Given the description of an element on the screen output the (x, y) to click on. 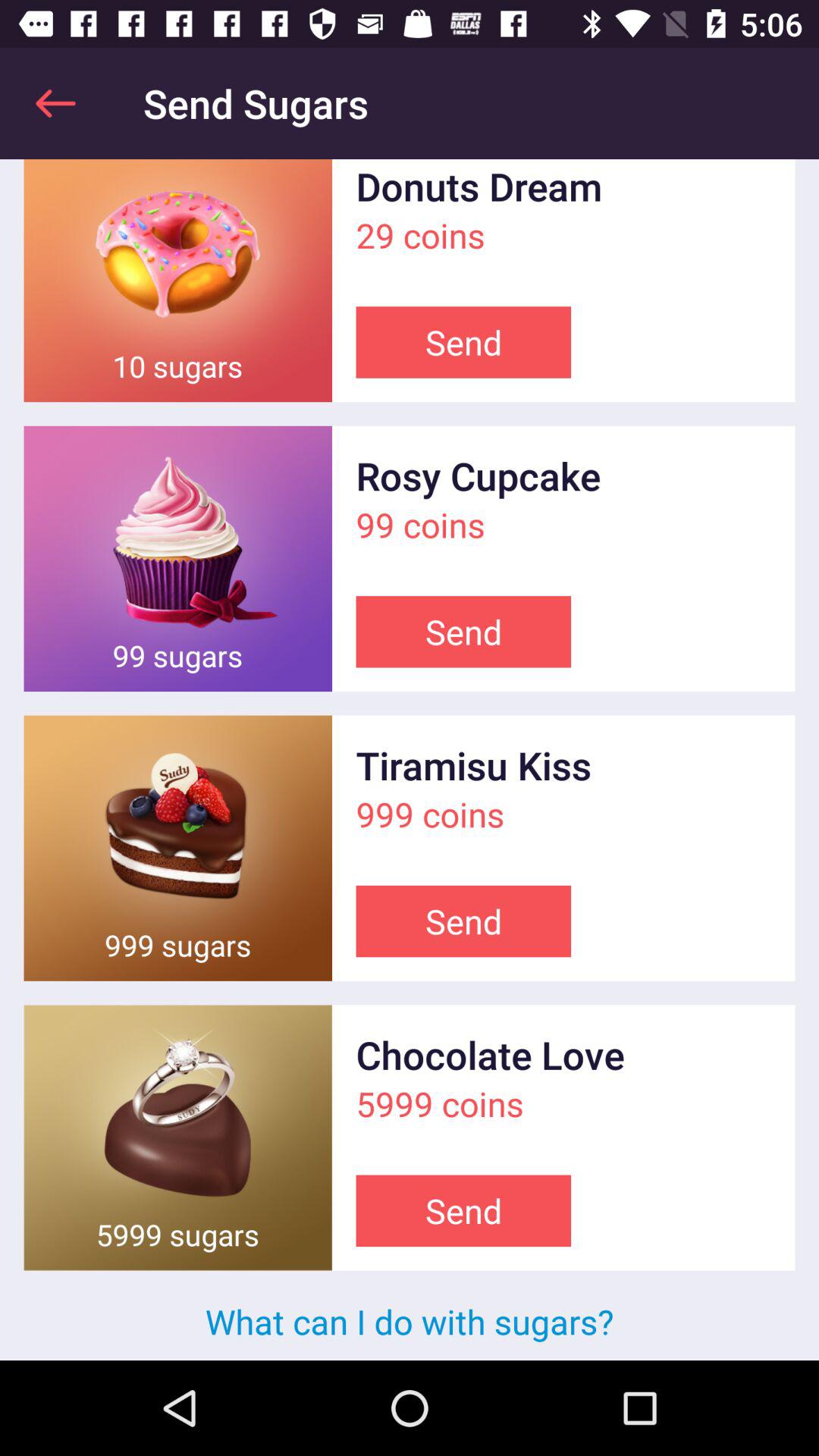
open rosy cupcake option (177, 558)
